Given the description of an element on the screen output the (x, y) to click on. 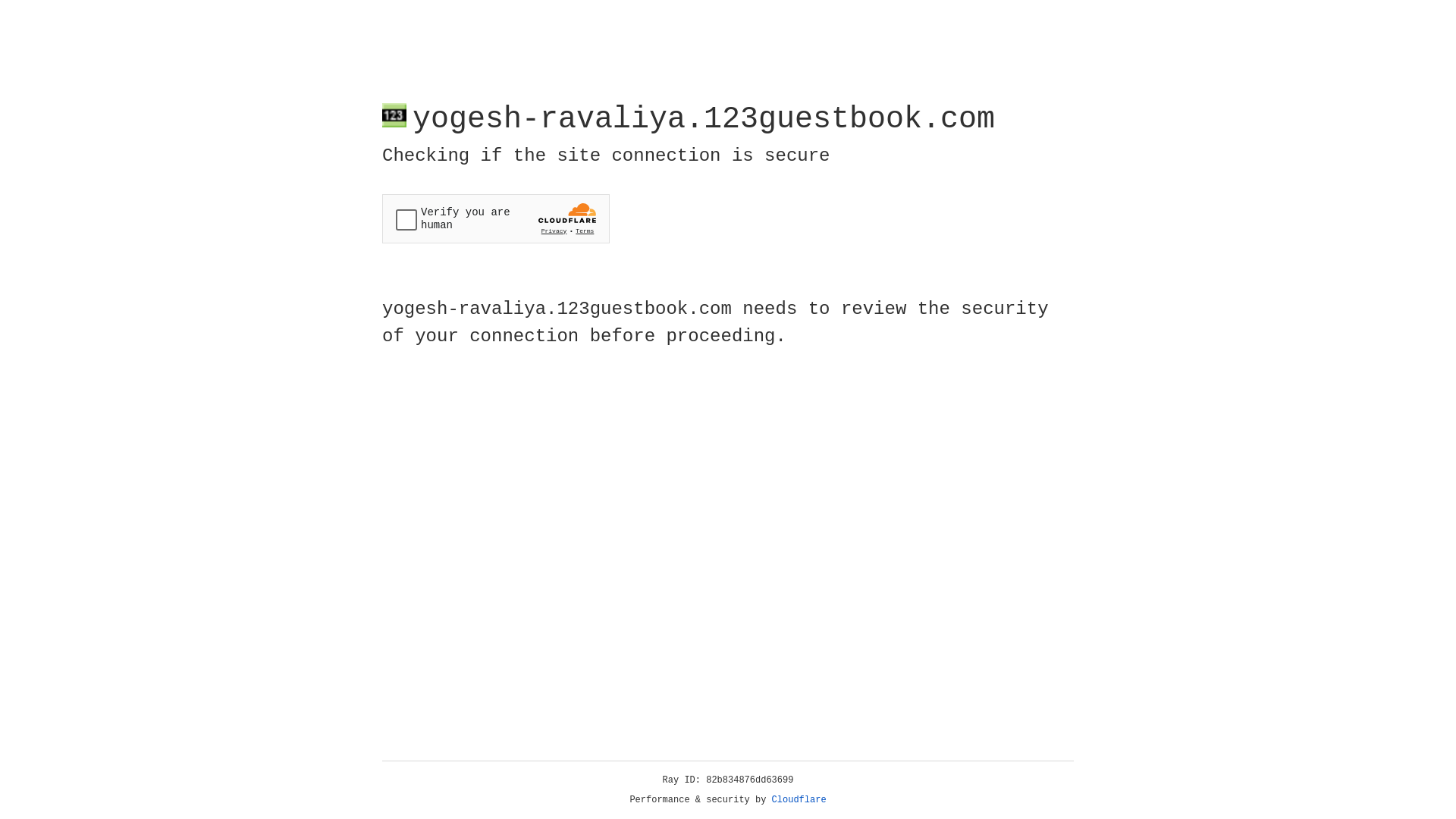
Widget containing a Cloudflare security challenge Element type: hover (495, 218)
Cloudflare Element type: text (798, 799)
